Given the description of an element on the screen output the (x, y) to click on. 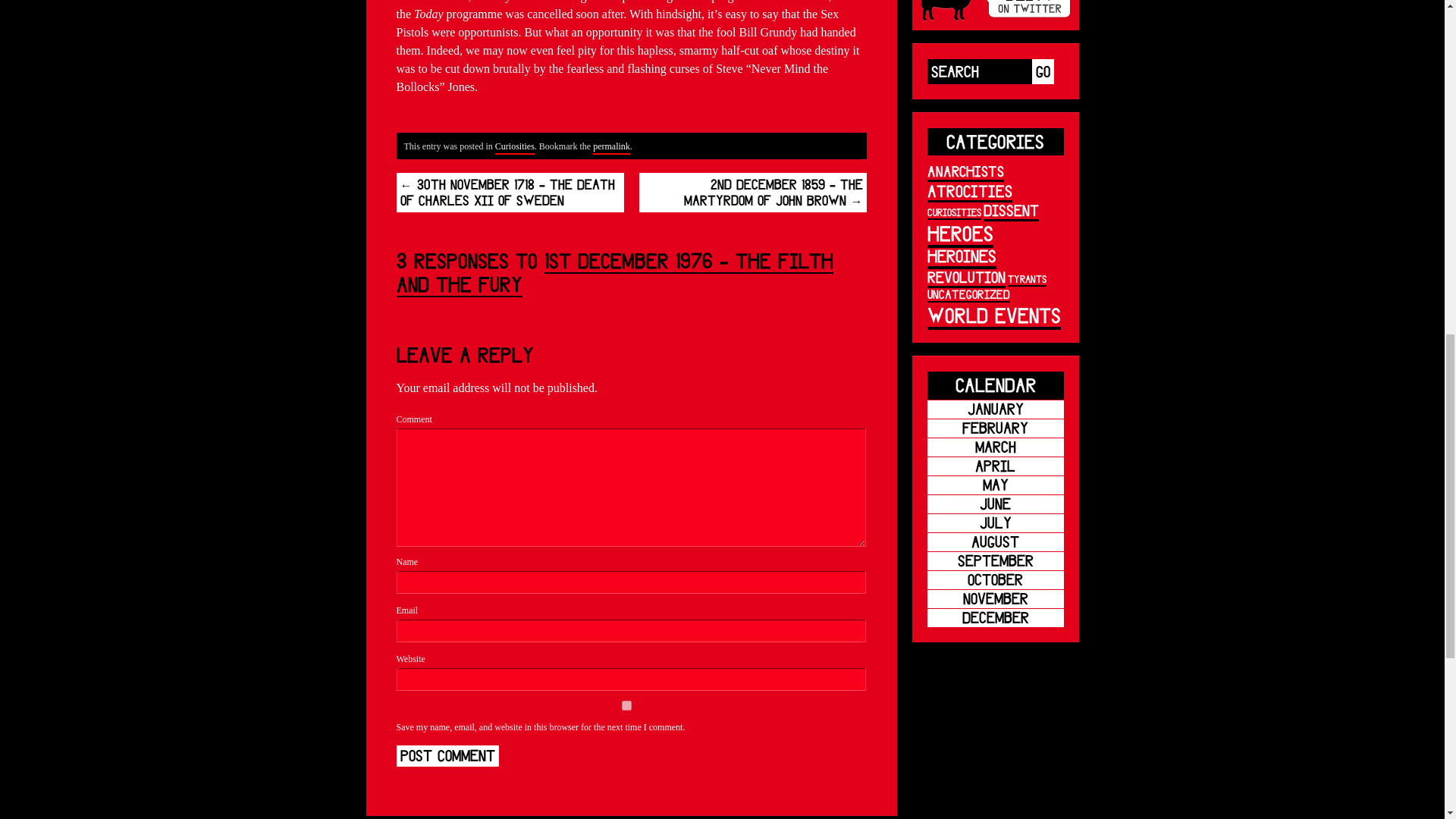
HEROES (959, 234)
DISSENT (1010, 211)
March (994, 447)
April (994, 466)
WORLD EVENTS (992, 316)
permalink (611, 146)
ANARCHISTS (964, 171)
HEROINES (960, 257)
Post Comment (446, 755)
Search (978, 71)
TYRANTS (1026, 279)
UNCATEGORIZED (967, 294)
Curiosities (514, 146)
May (994, 484)
February (994, 428)
